Given the description of an element on the screen output the (x, y) to click on. 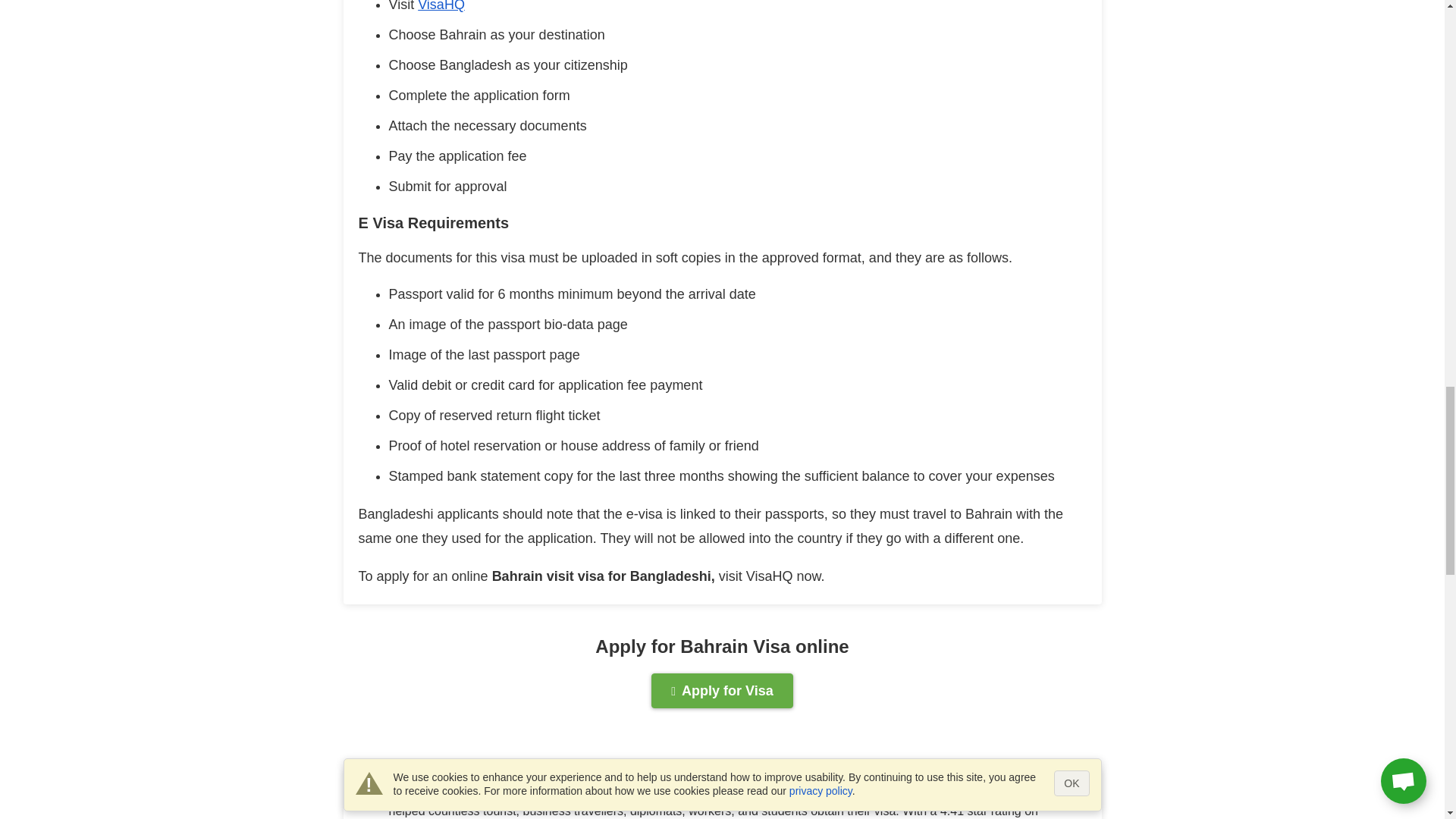
Apply for Visa (721, 690)
VisaHQ (440, 6)
